Given the description of an element on the screen output the (x, y) to click on. 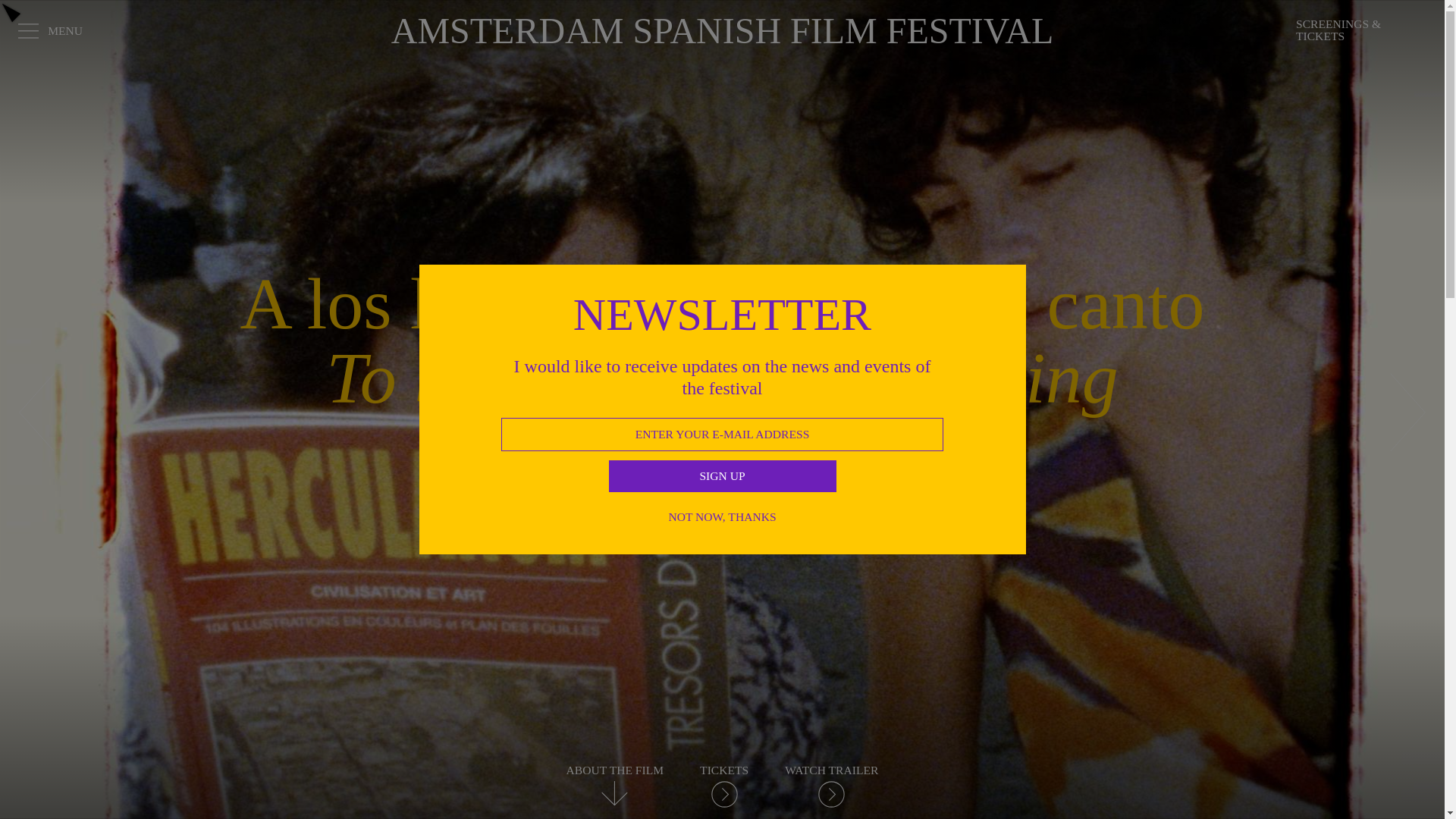
Group 14 Copy 6 Created with Sketch. (36, 412)
Group 14 Copy 2 Created with Sketch. (1408, 412)
Sign up (721, 476)
Fill 16 Created with Sketch. (11, 12)
